Given the description of an element on the screen output the (x, y) to click on. 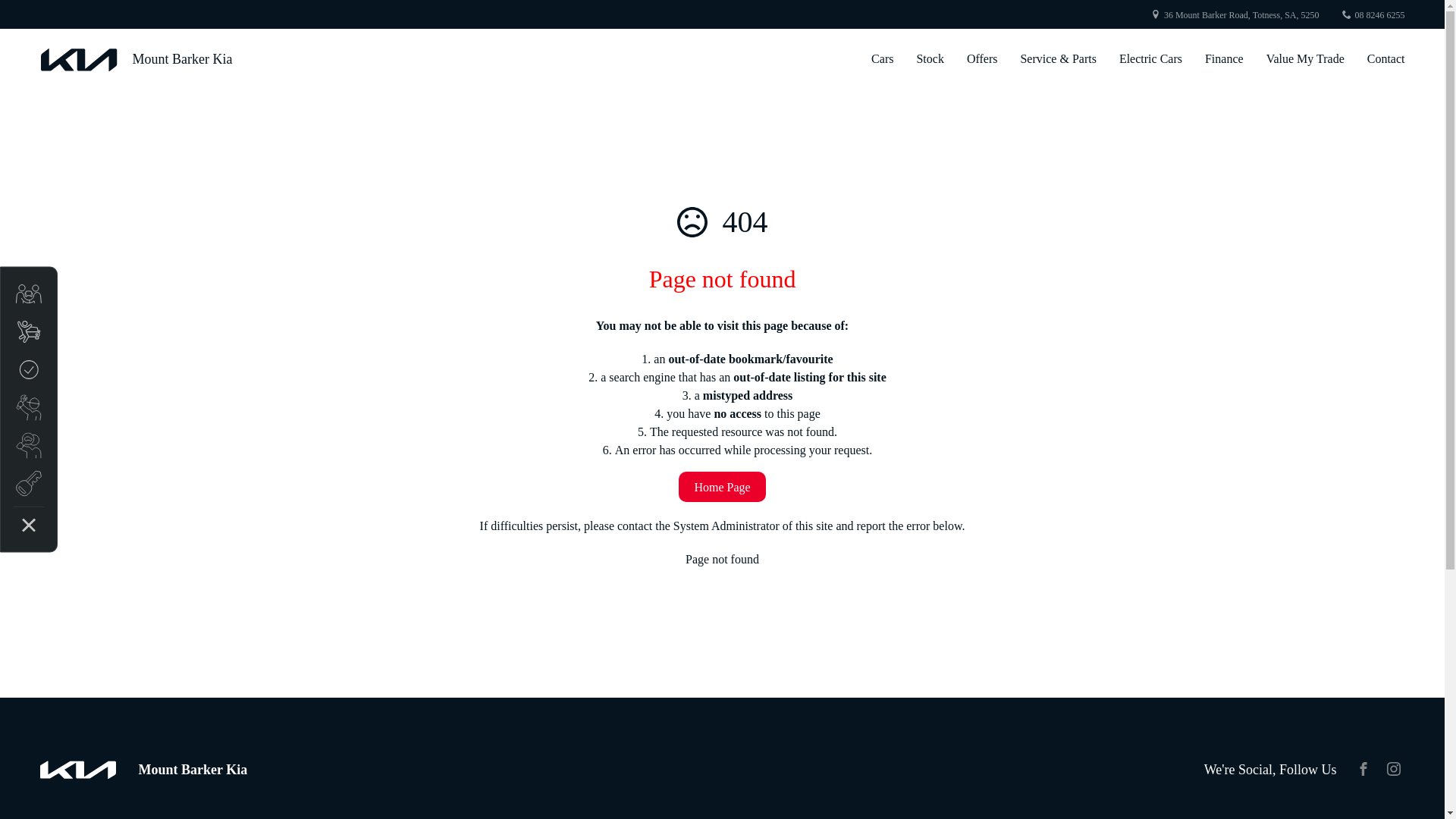
Mount Barker Kia Element type: text (143, 769)
Cars Element type: text (882, 58)
Finance Element type: text (1224, 58)
Value My Trade Element type: text (1305, 58)
Electric Cars Element type: text (1151, 58)
Contact Element type: text (1380, 58)
08 8246 6255 Element type: text (1379, 15)
Stock Element type: text (930, 58)
Home Page Element type: text (721, 486)
Offers Element type: text (983, 58)
36 Mount Barker Road, Totness, SA, 5250 Element type: text (1241, 15)
Mount Barker Kia Element type: text (135, 59)
Service & Parts Element type: text (1058, 58)
